Given the description of an element on the screen output the (x, y) to click on. 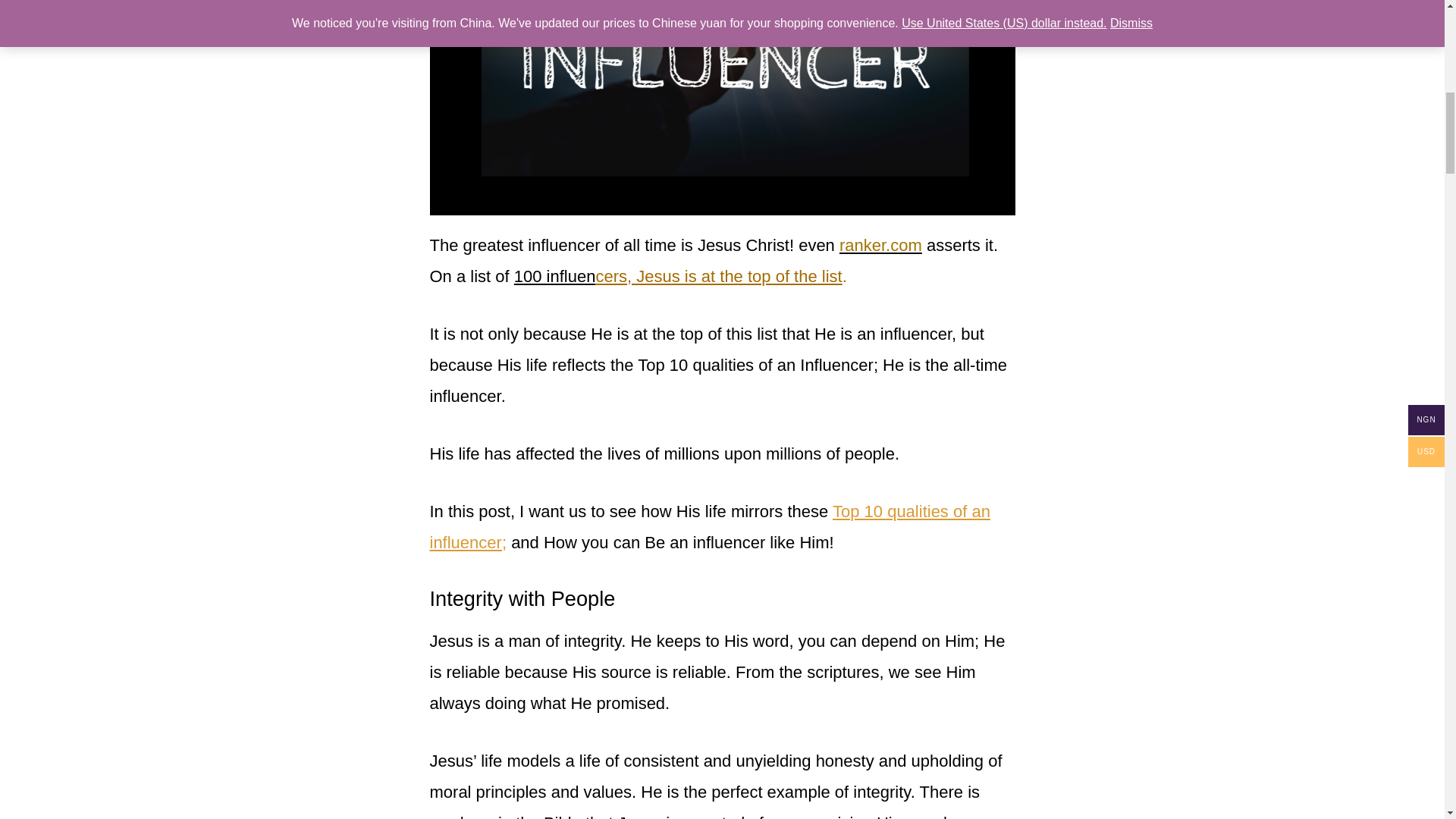
Top 10 qualities of an influencer (709, 527)
cers, Jesus is at the top of the list (718, 275)
ranker.com (880, 244)
100 influen (554, 275)
